Given the description of an element on the screen output the (x, y) to click on. 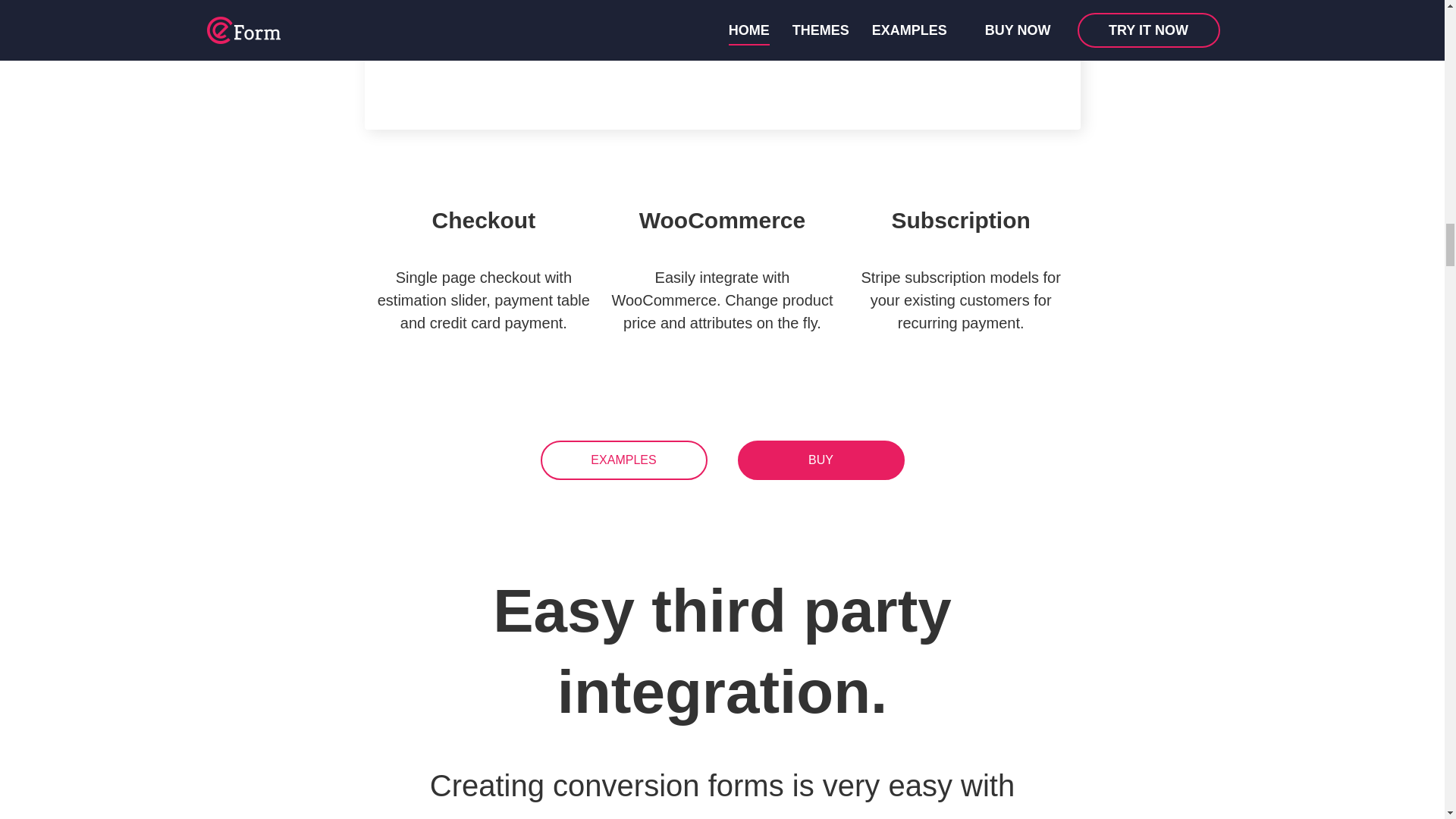
EXAMPLES (623, 459)
BUY (820, 459)
